Given the description of an element on the screen output the (x, y) to click on. 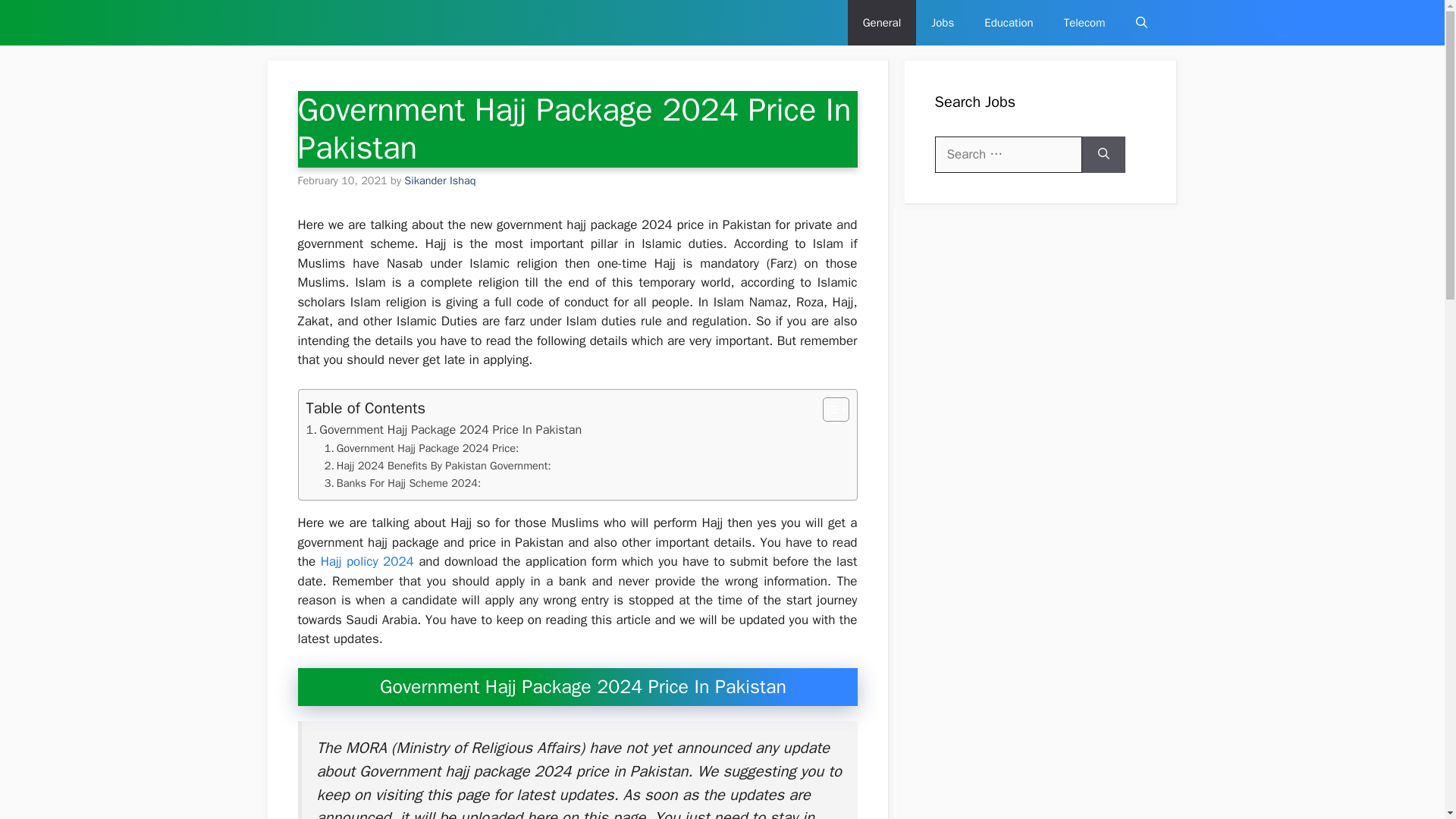
Hajj 2024 Benefits By Pakistan Government: (437, 466)
Telecom (1084, 22)
Government Hajj Package 2024 Price: (421, 448)
View all posts by Sikander Ishaq (440, 180)
General (882, 22)
Education (1008, 22)
Hajj policy 2024 (366, 561)
Jobs (942, 22)
Hajj 2024 Benefits By Pakistan Government: (437, 466)
Sikander Ishaq (440, 180)
Banks For Hajj Scheme 2024: (402, 483)
Government Hajj Package 2024 Price In Pakistan (443, 429)
Government Hajj Package 2024 Price In Pakistan (443, 429)
Government Hajj Package 2024 Price: (421, 448)
Banks For Hajj Scheme 2024: (402, 483)
